Given the description of an element on the screen output the (x, y) to click on. 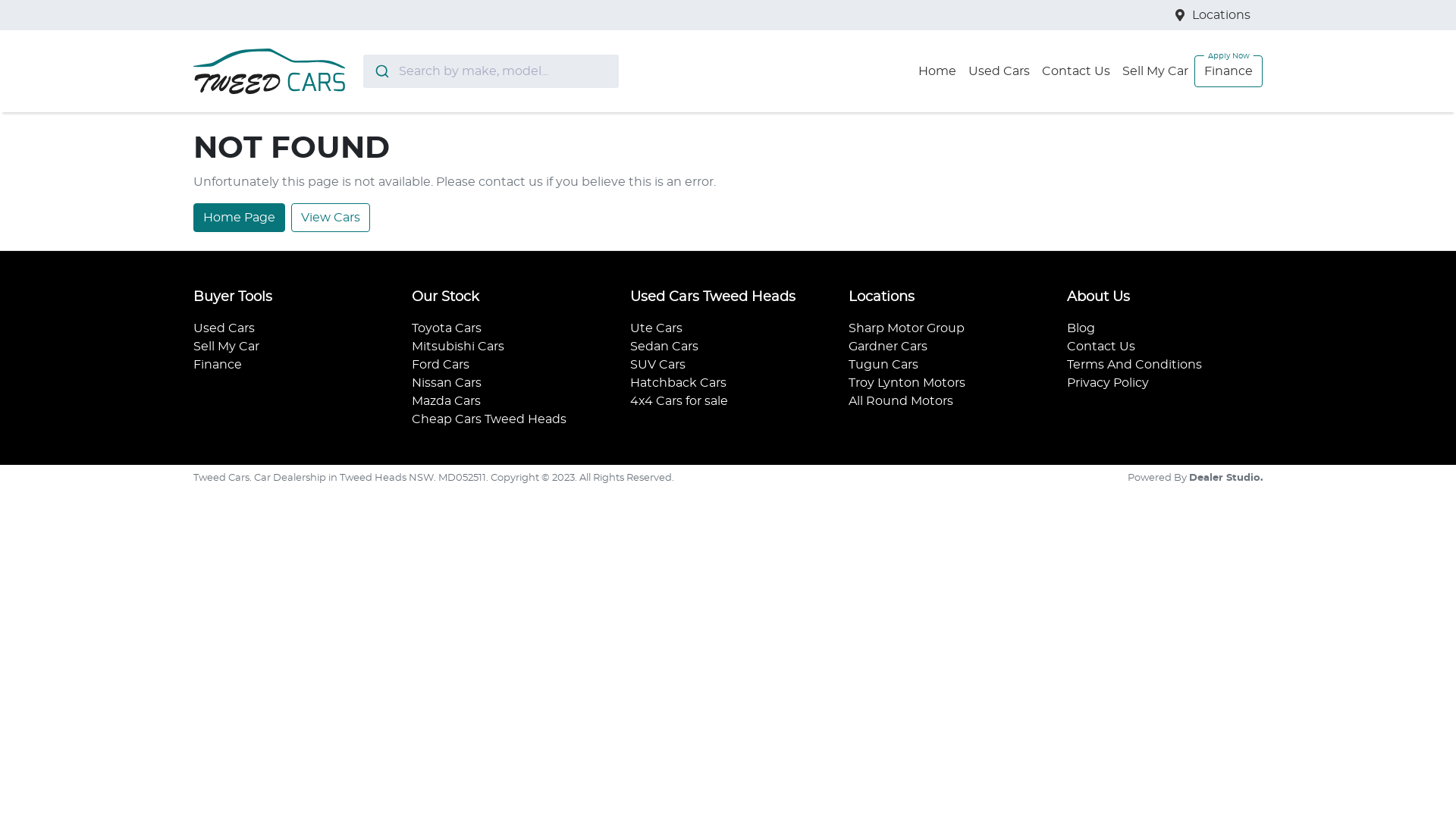
Cheap Cars Tweed Heads Element type: text (488, 419)
Sedan Cars Element type: text (664, 346)
Sharp Motor Group Element type: text (906, 328)
SUV Cars Element type: text (657, 364)
Used Cars Element type: text (998, 71)
Sell My Car Element type: text (1155, 71)
Used Cars Element type: text (223, 328)
Locations Element type: text (1221, 15)
Home Page Element type: text (239, 217)
Terms And Conditions Element type: text (1133, 364)
Finance Element type: text (1228, 71)
Nissan Cars Element type: text (446, 382)
Contact Us Element type: text (1075, 71)
Toyota Cars Element type: text (446, 328)
Troy Lynton Motors Element type: text (906, 382)
Contact Us Element type: text (1100, 346)
Hatchback Cars Element type: text (678, 382)
Ford Cars Element type: text (440, 364)
Dealer Studio. Element type: text (1225, 478)
Ute Cars Element type: text (656, 328)
All Round Motors Element type: text (900, 401)
Home Element type: text (937, 71)
4x4 Cars for sale Element type: text (679, 401)
View Cars Element type: text (330, 217)
Privacy Policy Element type: text (1107, 382)
Tugun Cars Element type: text (883, 364)
Finance Element type: text (217, 364)
Mazda Cars Element type: text (445, 401)
Sell My Car Element type: text (226, 346)
Mitsubishi Cars Element type: text (457, 346)
Submit Element type: hover (380, 70)
Gardner Cars Element type: text (887, 346)
Blog Element type: text (1080, 328)
